Given the description of an element on the screen output the (x, y) to click on. 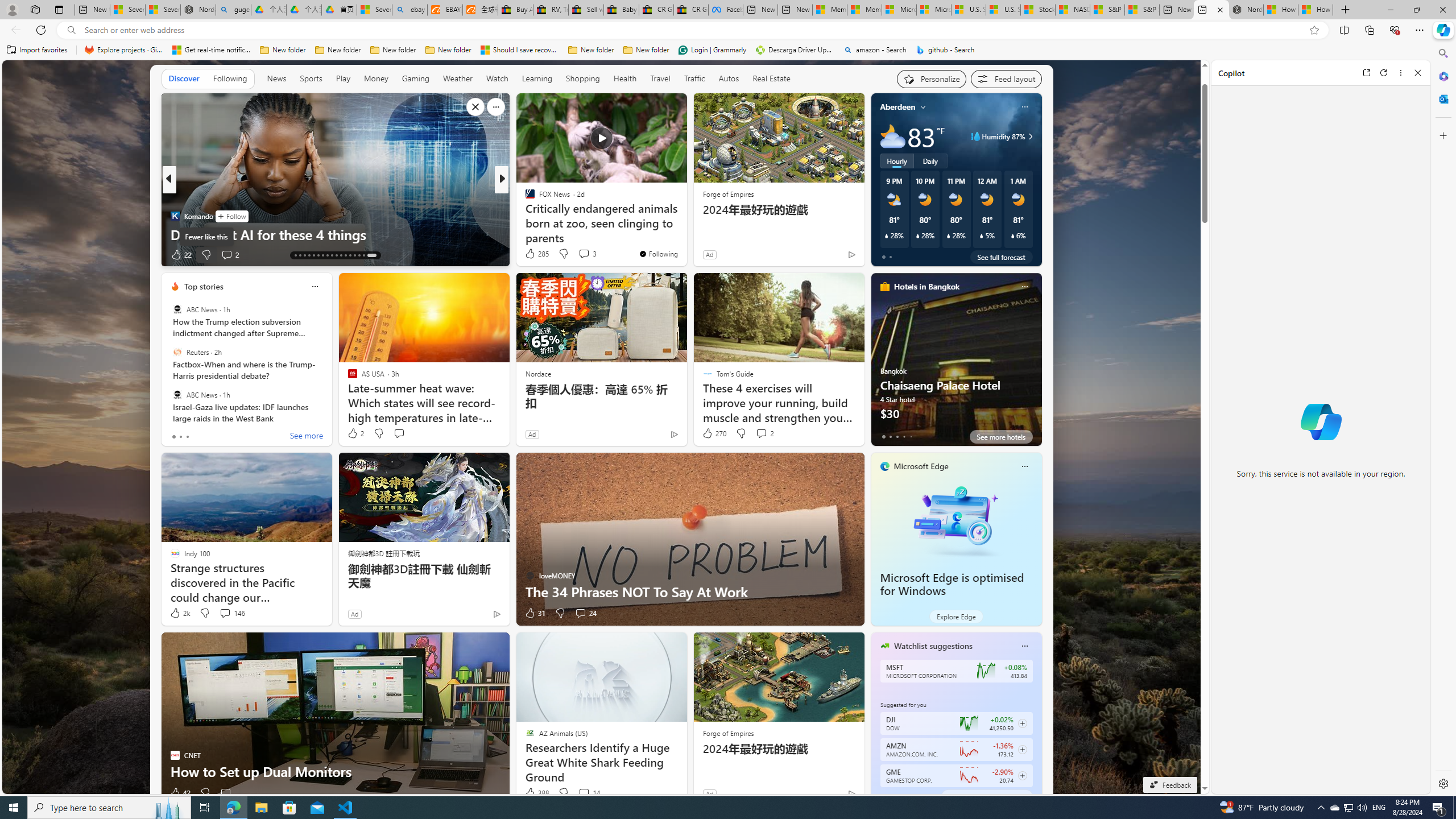
Search icon (70, 29)
Daily (929, 160)
Class: weather-current-precipitation-glyph (1012, 235)
Hide this story (652, 106)
See full forecast (1000, 256)
Weather (457, 79)
